Given the description of an element on the screen output the (x, y) to click on. 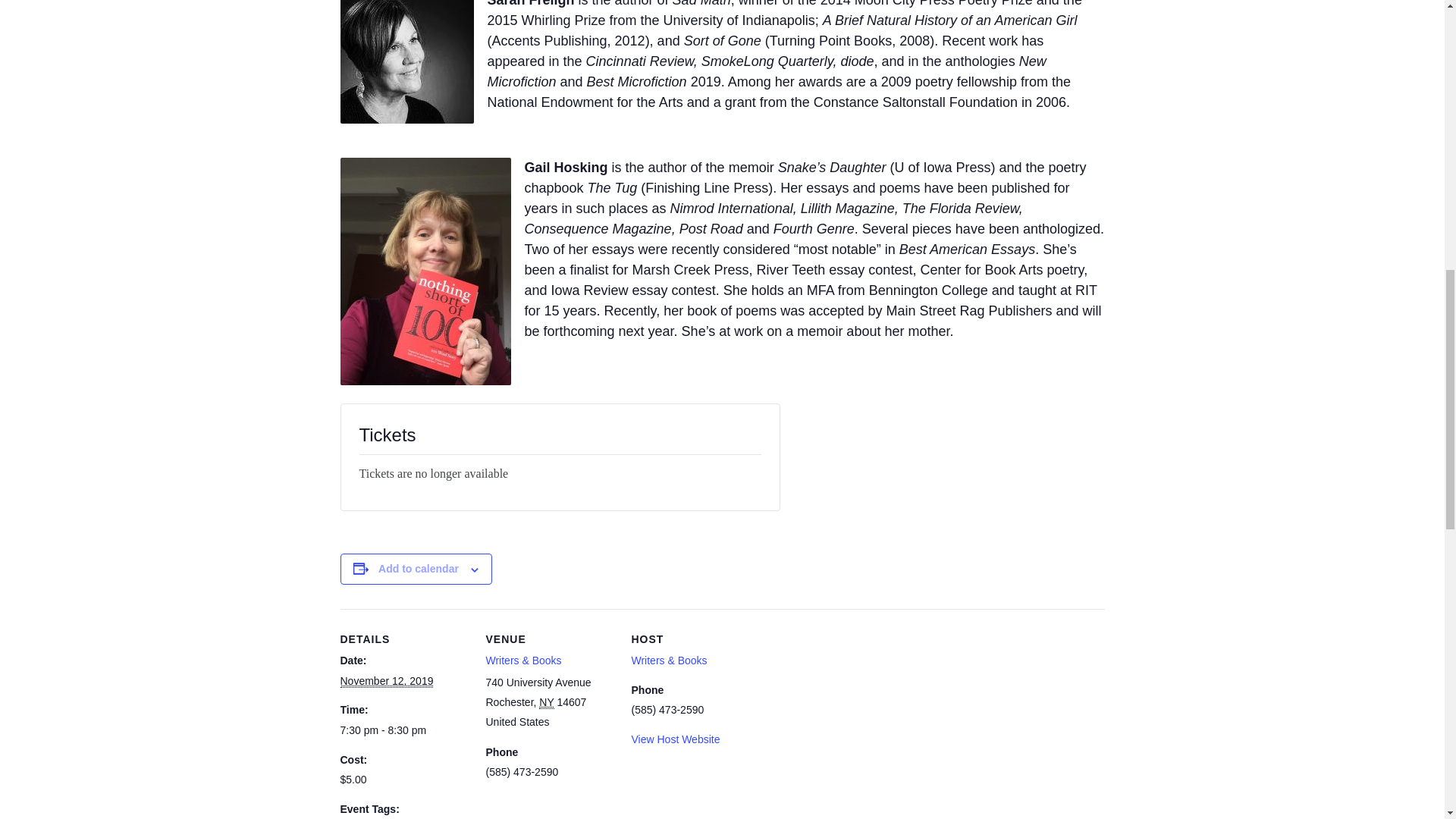
2019-11-12 (403, 730)
New York (545, 702)
2019-11-12 (385, 680)
